Given the description of an element on the screen output the (x, y) to click on. 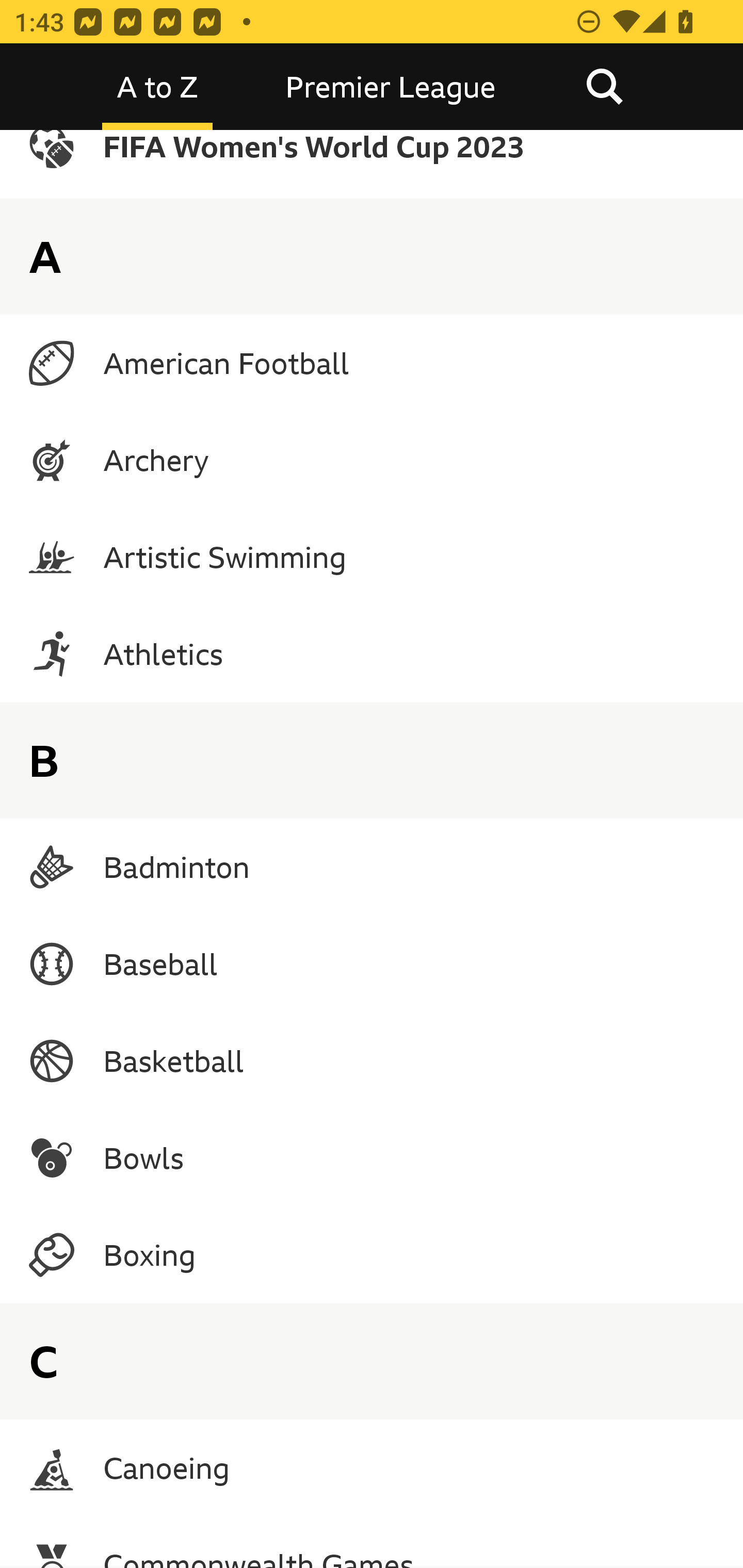
Premier League (390, 86)
Search (604, 86)
FIFA Women's World Cup 2023 (371, 164)
American Football (371, 362)
Archery (371, 459)
Artistic Swimming (371, 556)
Athletics (371, 653)
Badminton (371, 866)
Baseball (371, 963)
Basketball (371, 1061)
Bowls (371, 1157)
Boxing (371, 1254)
Canoeing (371, 1467)
